Given the description of an element on the screen output the (x, y) to click on. 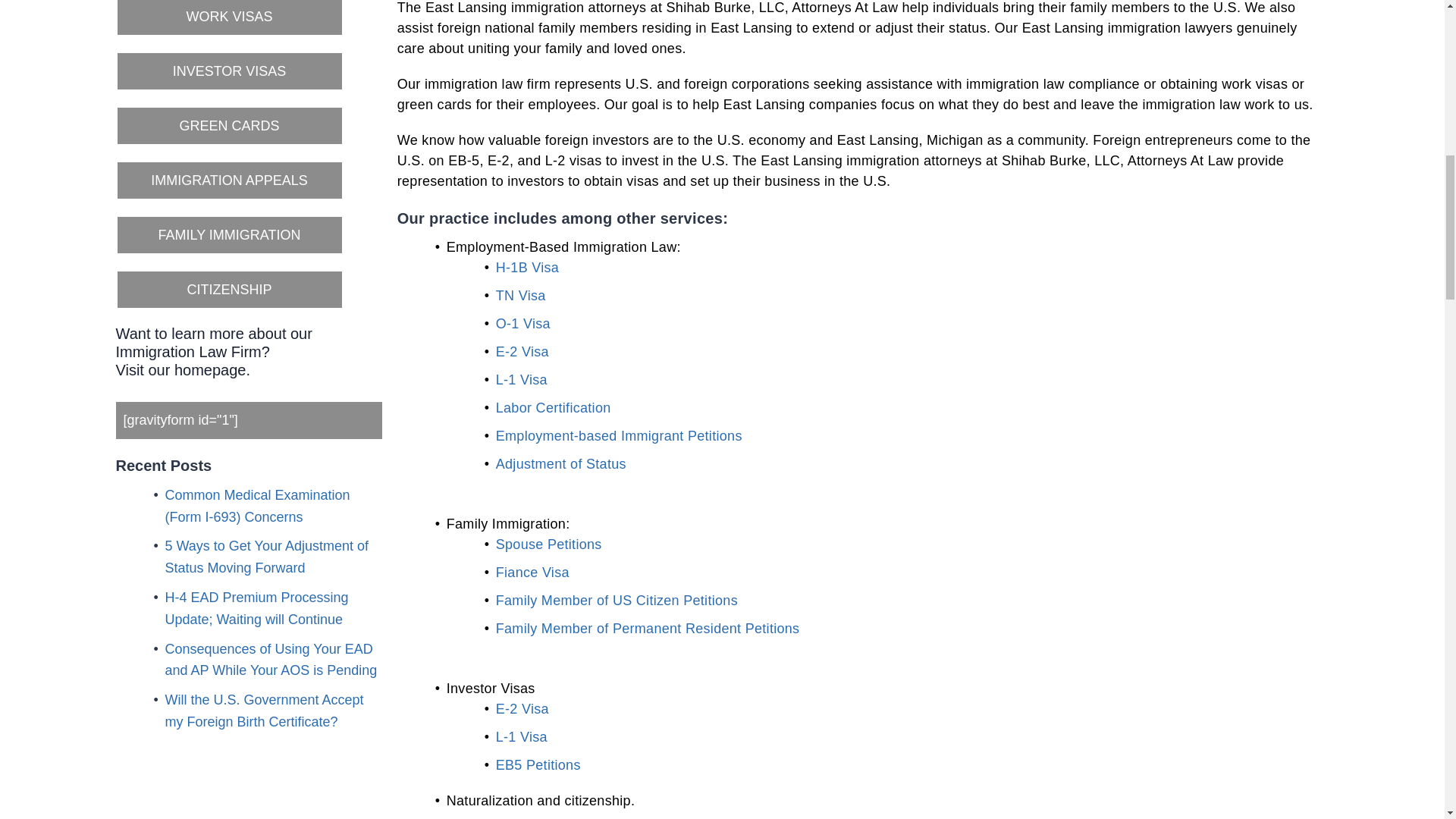
H-1B Visa (527, 267)
GREEN CARDS (228, 125)
TN Visa (521, 295)
O-1 Visa (523, 323)
FAMILY IMMIGRATION (228, 234)
5 Ways to Get Your Adjustment of Status Moving Forward (266, 556)
H-4 EAD Premium Processing Update; Waiting will Continue (257, 608)
CITIZENSHIP (228, 289)
E-2 Visa (522, 351)
L-1 Visa (521, 379)
WORK VISAS (228, 18)
INVESTOR VISAS (228, 70)
